Given the description of an element on the screen output the (x, y) to click on. 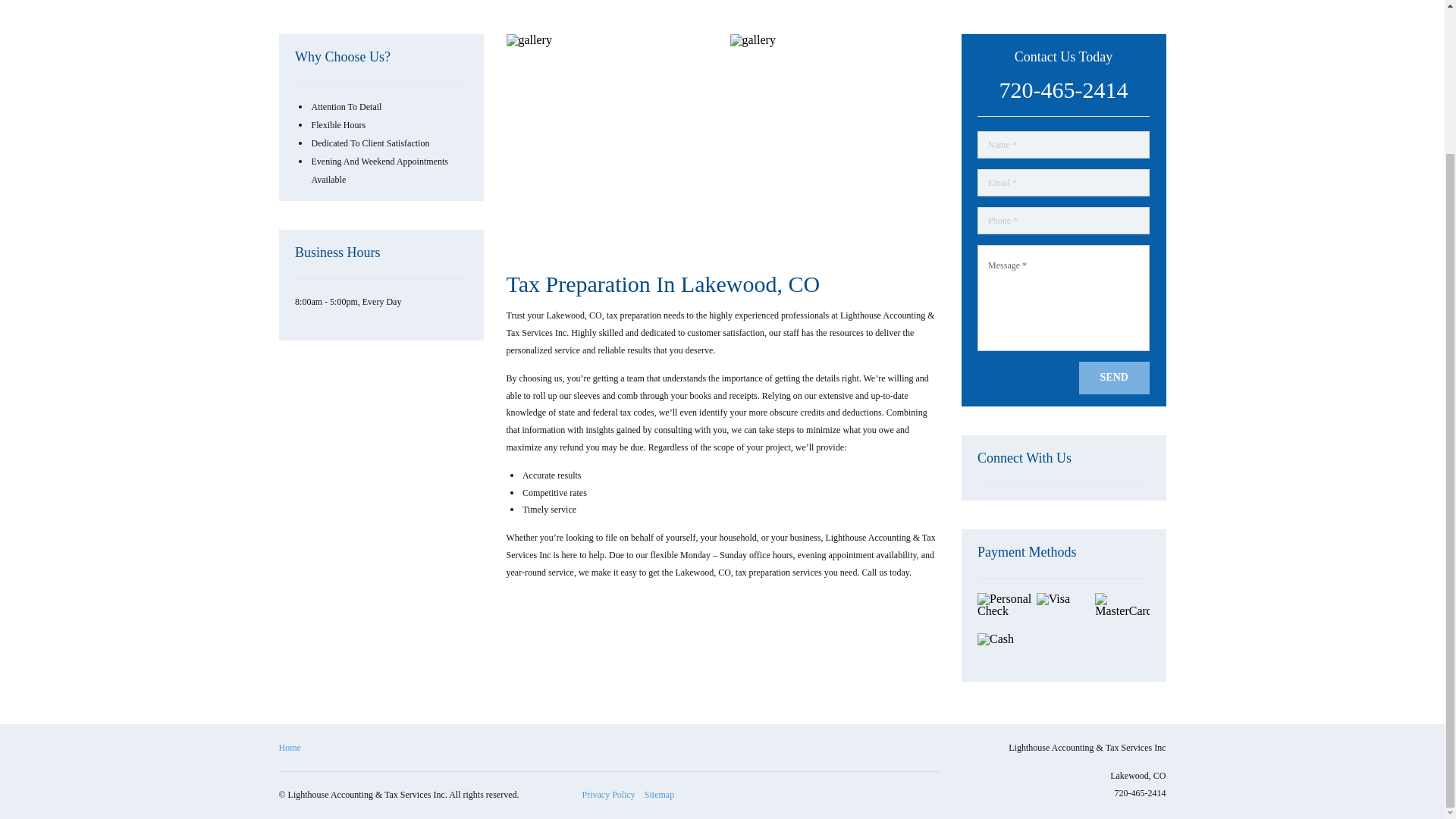
SEND (1114, 377)
Visa (1063, 610)
Personal Check (1004, 610)
MasterCard (1122, 610)
Home (290, 747)
Sitemap (659, 794)
Cash (1004, 651)
Privacy Policy (607, 794)
